Given the description of an element on the screen output the (x, y) to click on. 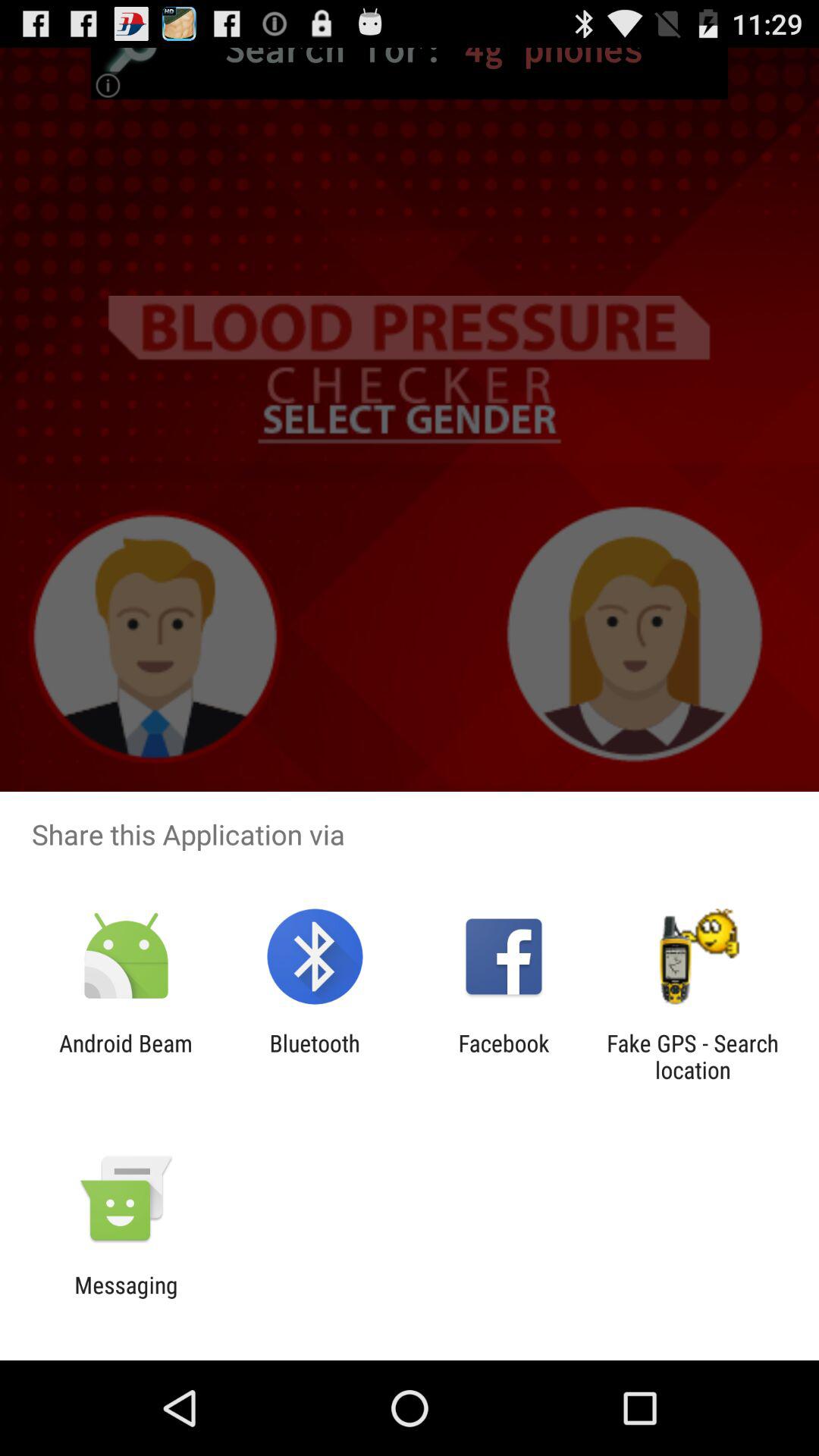
turn off icon to the left of fake gps search icon (503, 1056)
